Given the description of an element on the screen output the (x, y) to click on. 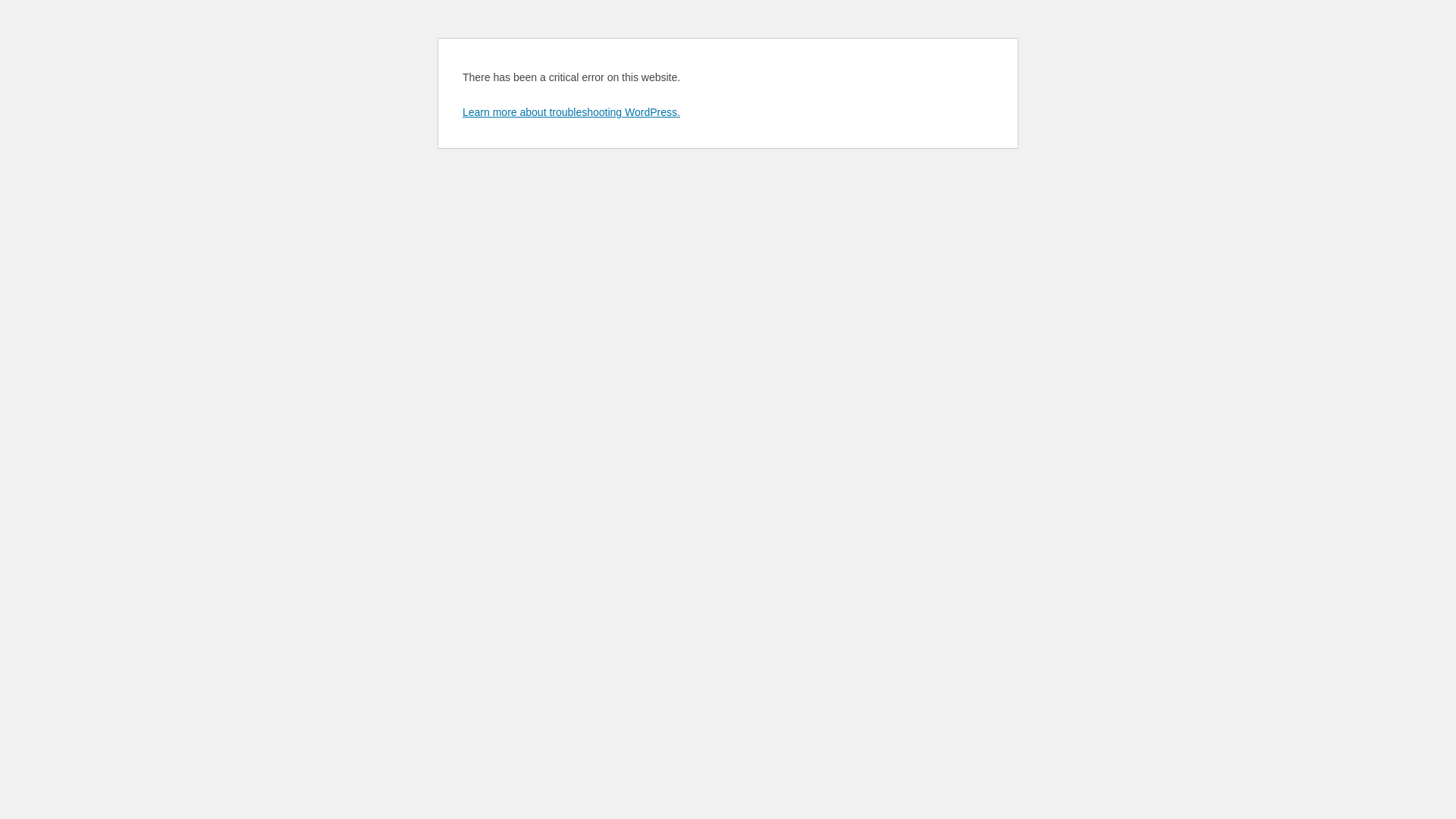
Learn more about troubleshooting WordPress. Element type: text (571, 112)
